Given the description of an element on the screen output the (x, y) to click on. 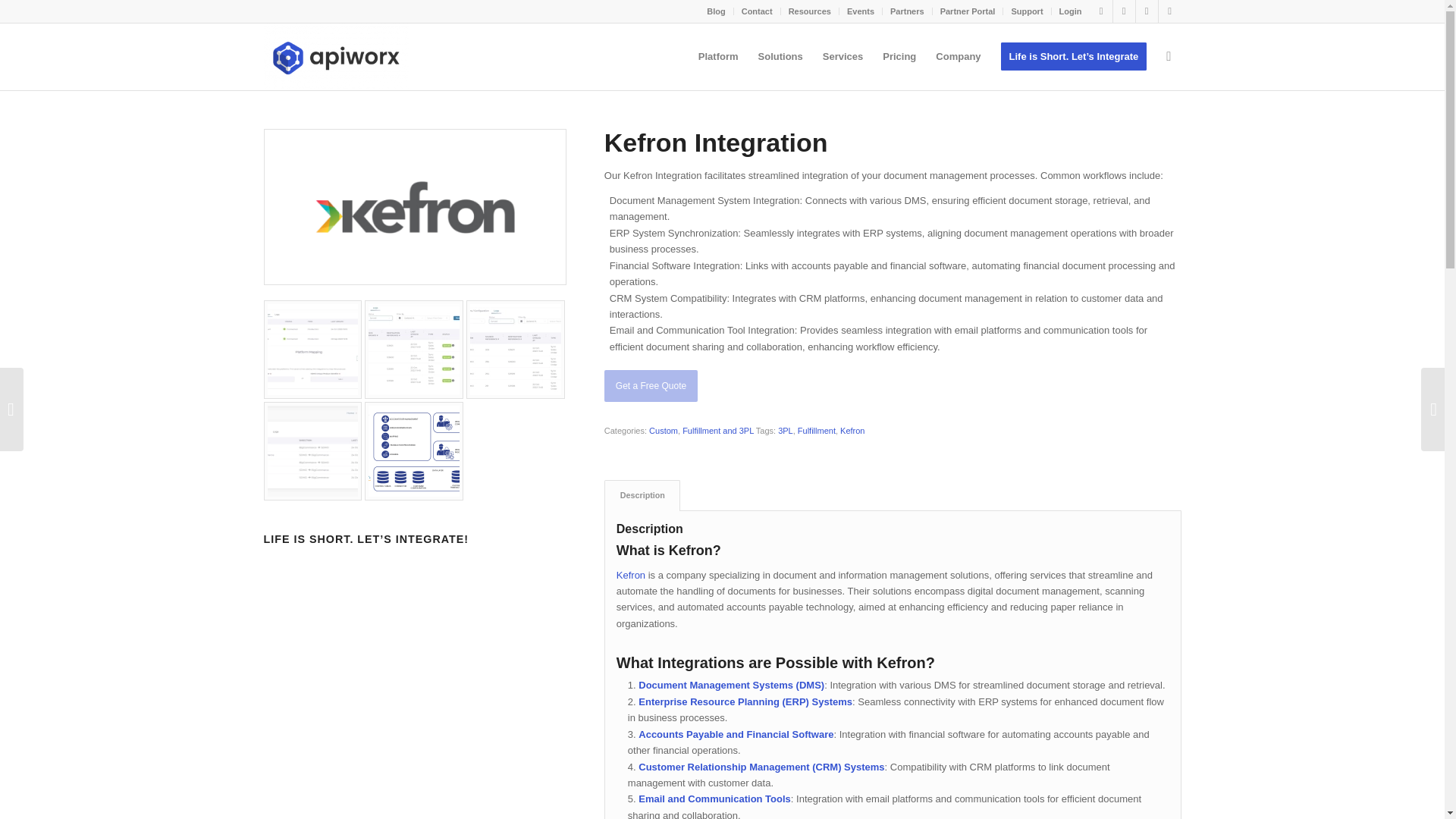
Resources (810, 11)
Facebook (1146, 11)
Partner Portal (967, 11)
Description (641, 495)
Instagram (1169, 11)
Login (1070, 11)
Events (861, 11)
Partners (906, 11)
LinkedIn (1124, 11)
Support (1026, 11)
